Given the description of an element on the screen output the (x, y) to click on. 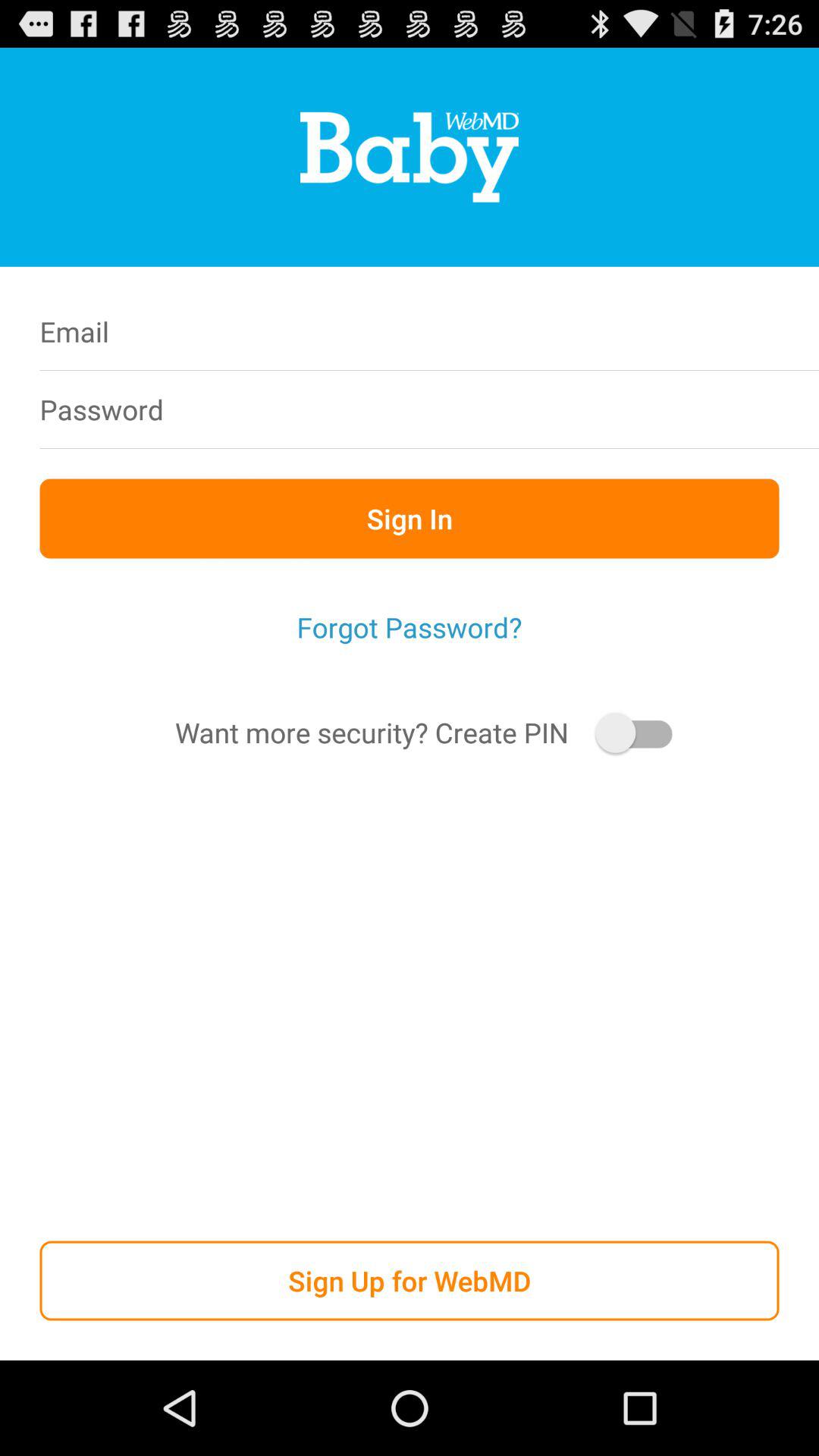
flip until sign up for item (409, 1280)
